Given the description of an element on the screen output the (x, y) to click on. 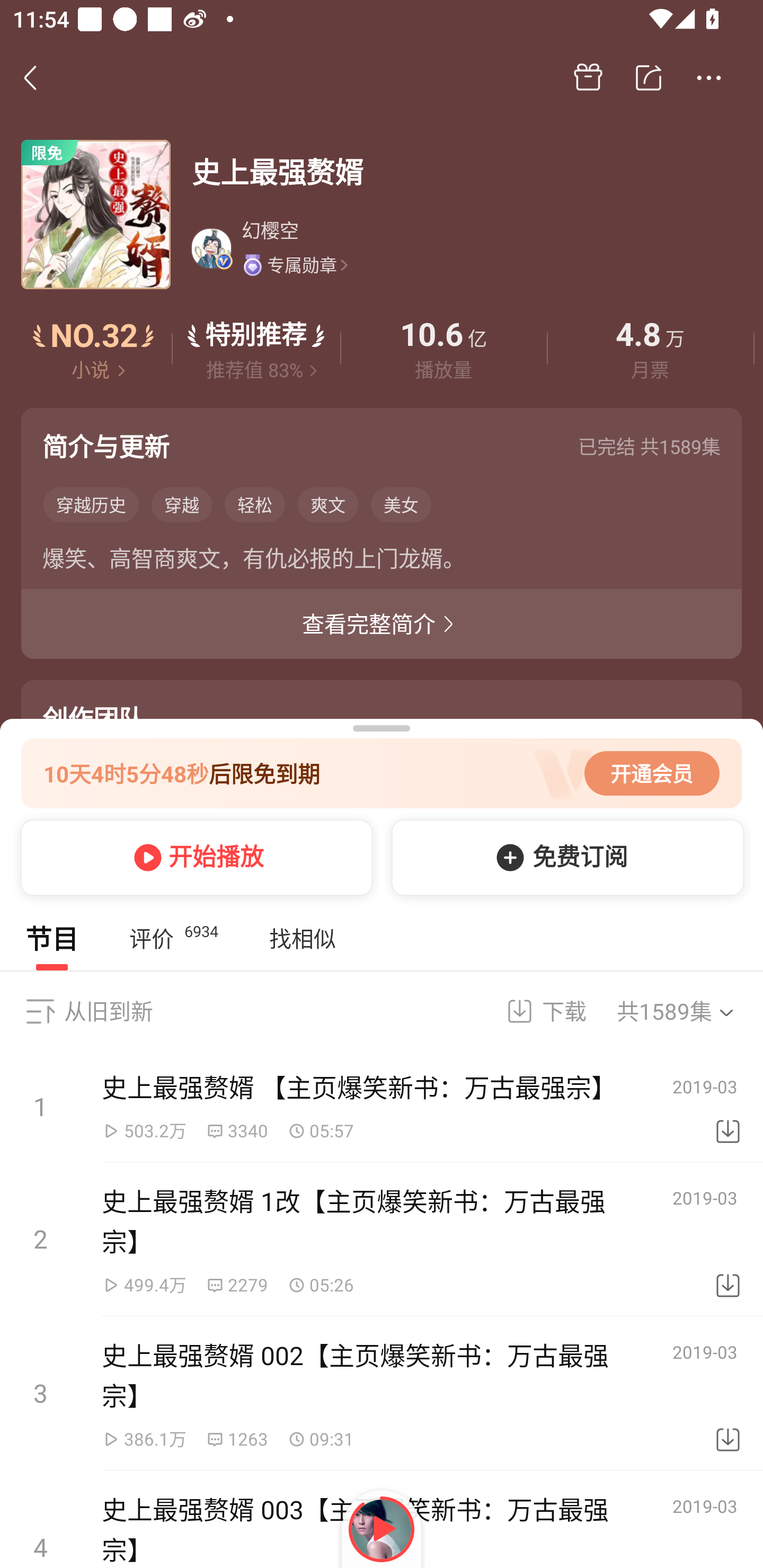
返回 (40, 77)
买赠 (587, 78)
分享 (648, 78)
更多 (709, 78)
史上最强赘婿 (466, 171)
幻樱空 专属勋章 (465, 248)
专属勋章 (294, 263)
排行榜 (93, 348)
评价 (255, 348)
穿越历史 (90, 504)
穿越 (181, 504)
轻松 (254, 504)
爽文 (327, 504)
美女 (400, 504)
爆笑、高智商爽文，有仇必报的上门龙婿。 (381, 561)
查看完整简介 (381, 623)
开始播放 (193, 857)
免费订阅 (564, 857)
节目 (51, 938)
评价  6934 (173, 938)
找相似 (302, 938)
排序，从旧到新 (40, 1011)
从旧到新 (108, 1011)
下载 (534, 1011)
共1589集 选集，共1589集 (687, 1011)
下载 (728, 1106)
下载 (728, 1239)
下载 (728, 1393)
4 史上最强赘婿 003【主页爆笑新书：万古最强宗】 2019-03 下载 (381, 1519)
继续播放Alpha-橘子海OrangeOcean (381, 1529)
